Given the description of an element on the screen output the (x, y) to click on. 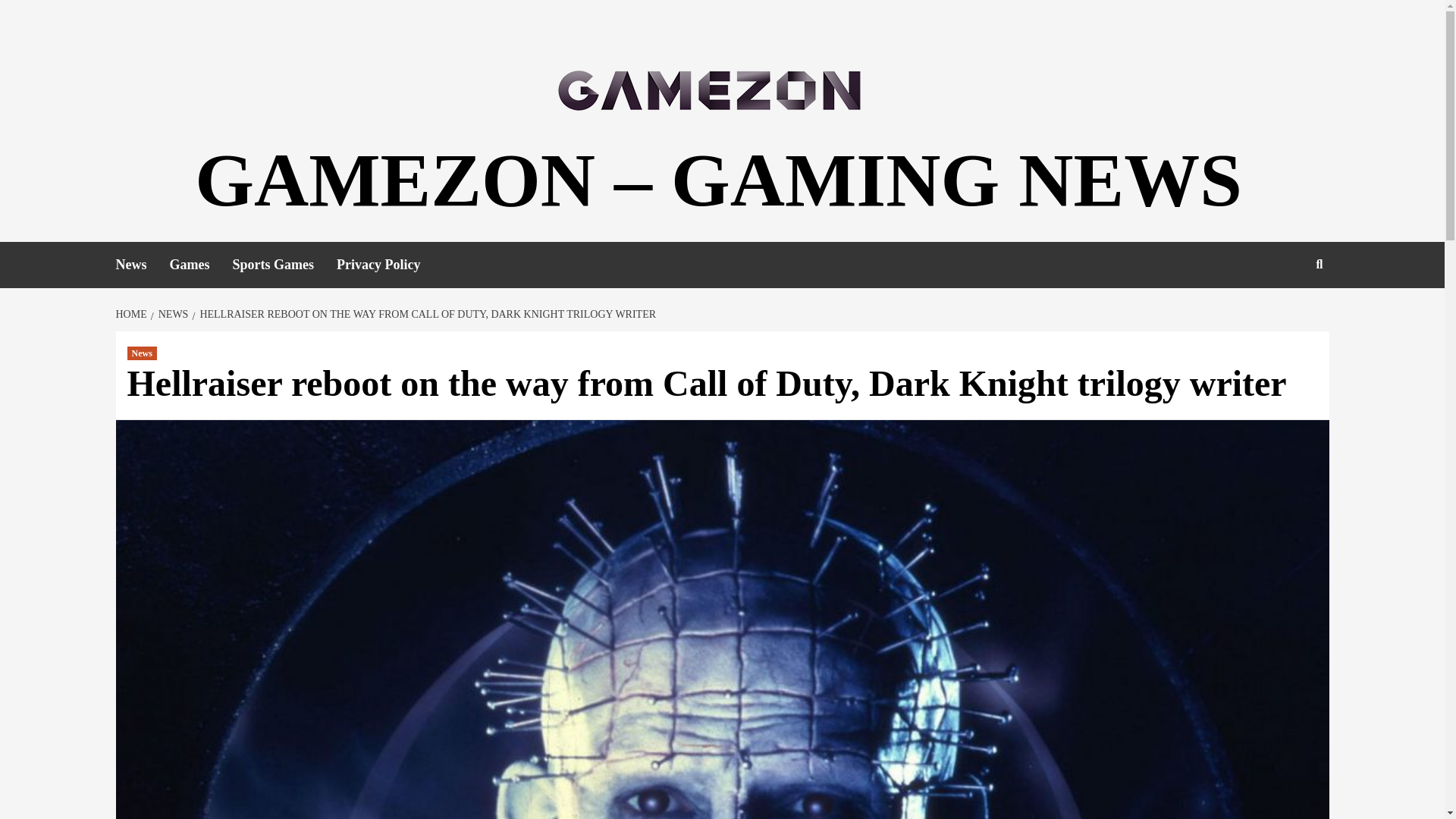
Sports Games (283, 264)
Games (201, 264)
NEWS (171, 314)
Privacy Policy (389, 264)
News (141, 264)
Search (1283, 313)
HOME (132, 314)
News (142, 353)
